Given the description of an element on the screen output the (x, y) to click on. 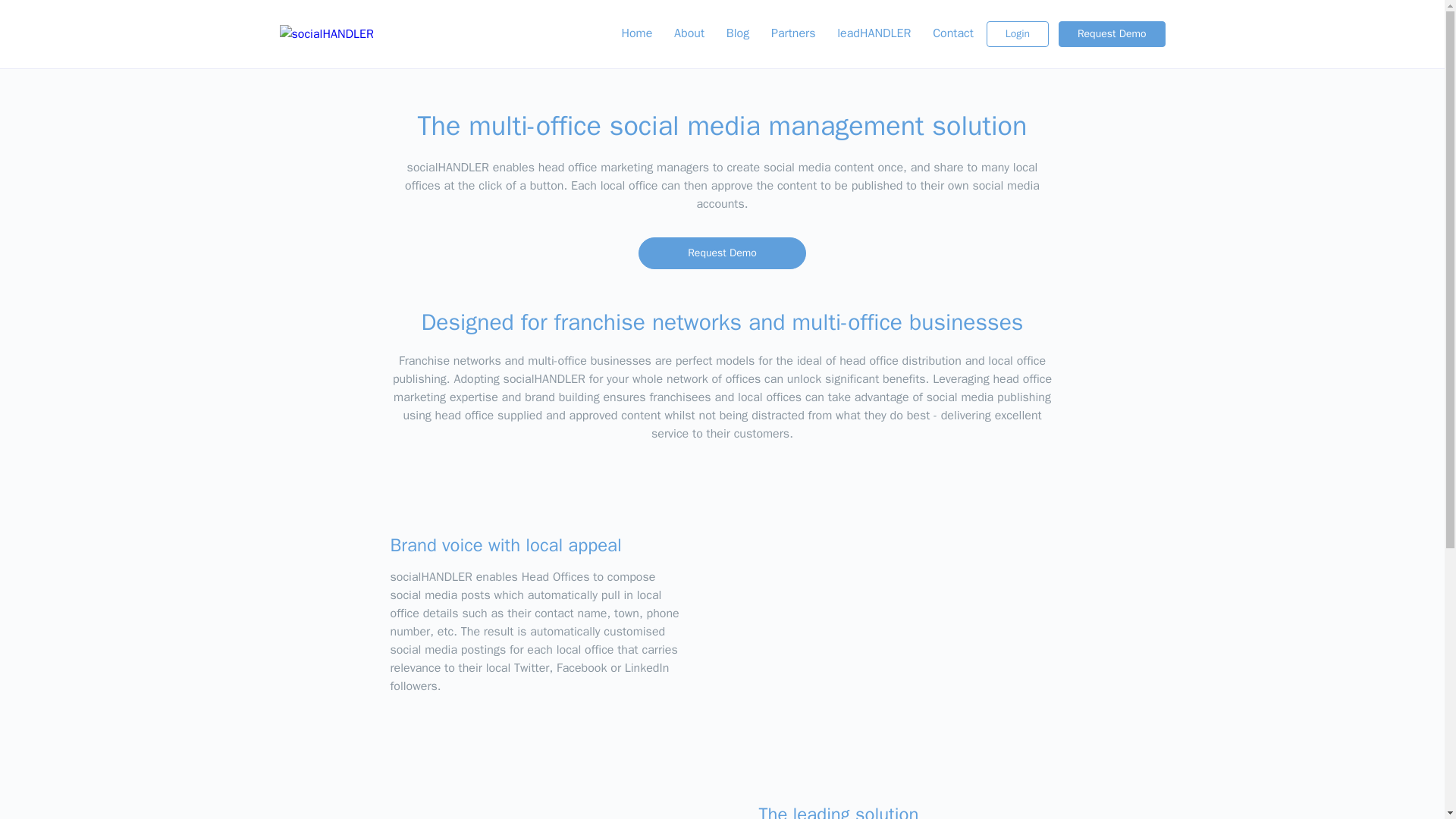
Home (636, 33)
Contact (952, 33)
Request Demo (1112, 33)
Login (1017, 33)
Request Demo (722, 253)
leadHANDLER (874, 33)
Blog (737, 33)
Partners (792, 33)
About (689, 33)
